Given the description of an element on the screen output the (x, y) to click on. 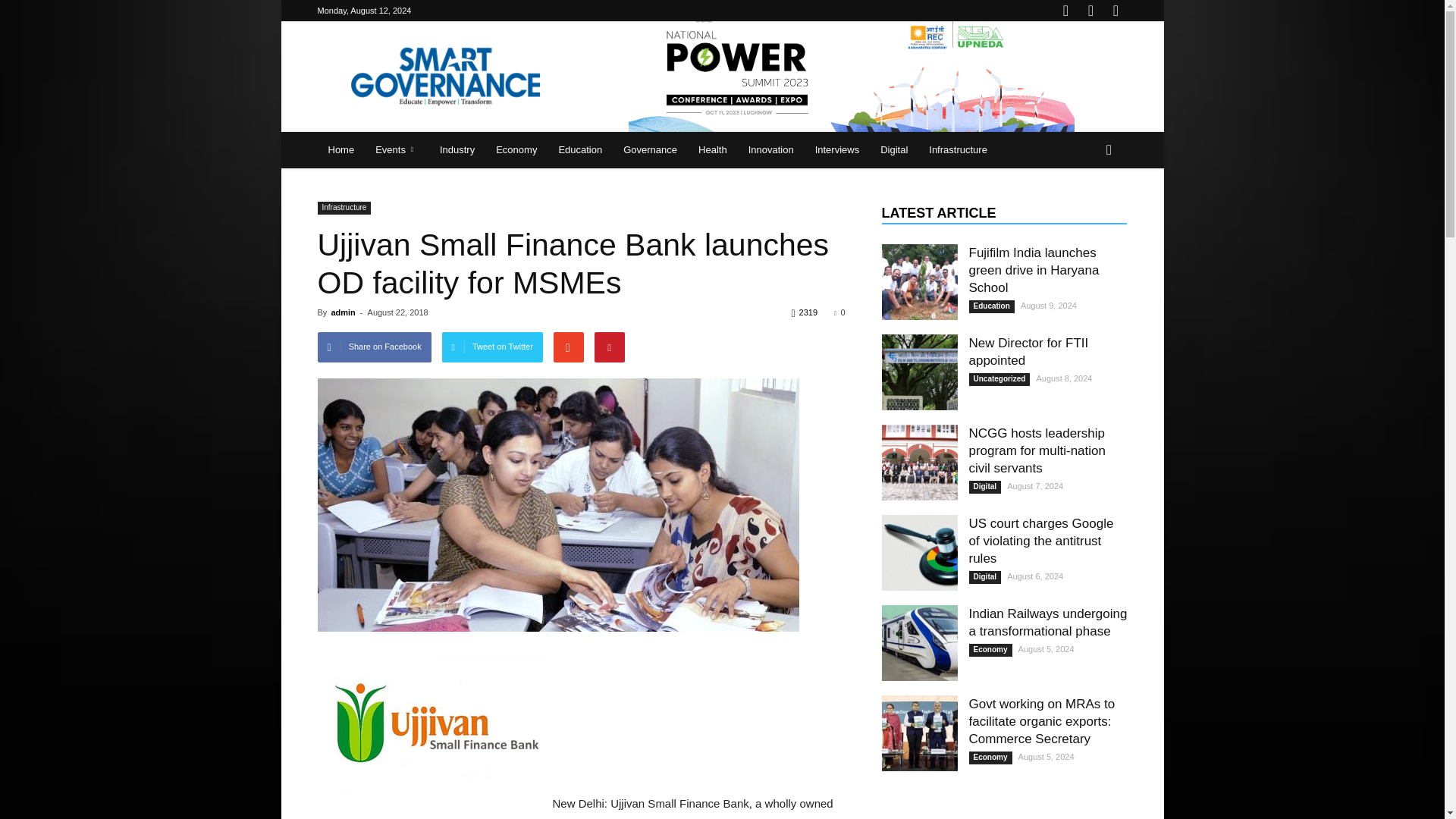
Education (579, 149)
Search (1085, 210)
Home (341, 149)
Interviews (837, 149)
Governance (649, 149)
Linkedin (1090, 10)
Events (397, 149)
Facebook (1065, 10)
Economy (515, 149)
Industry (456, 149)
